Given the description of an element on the screen output the (x, y) to click on. 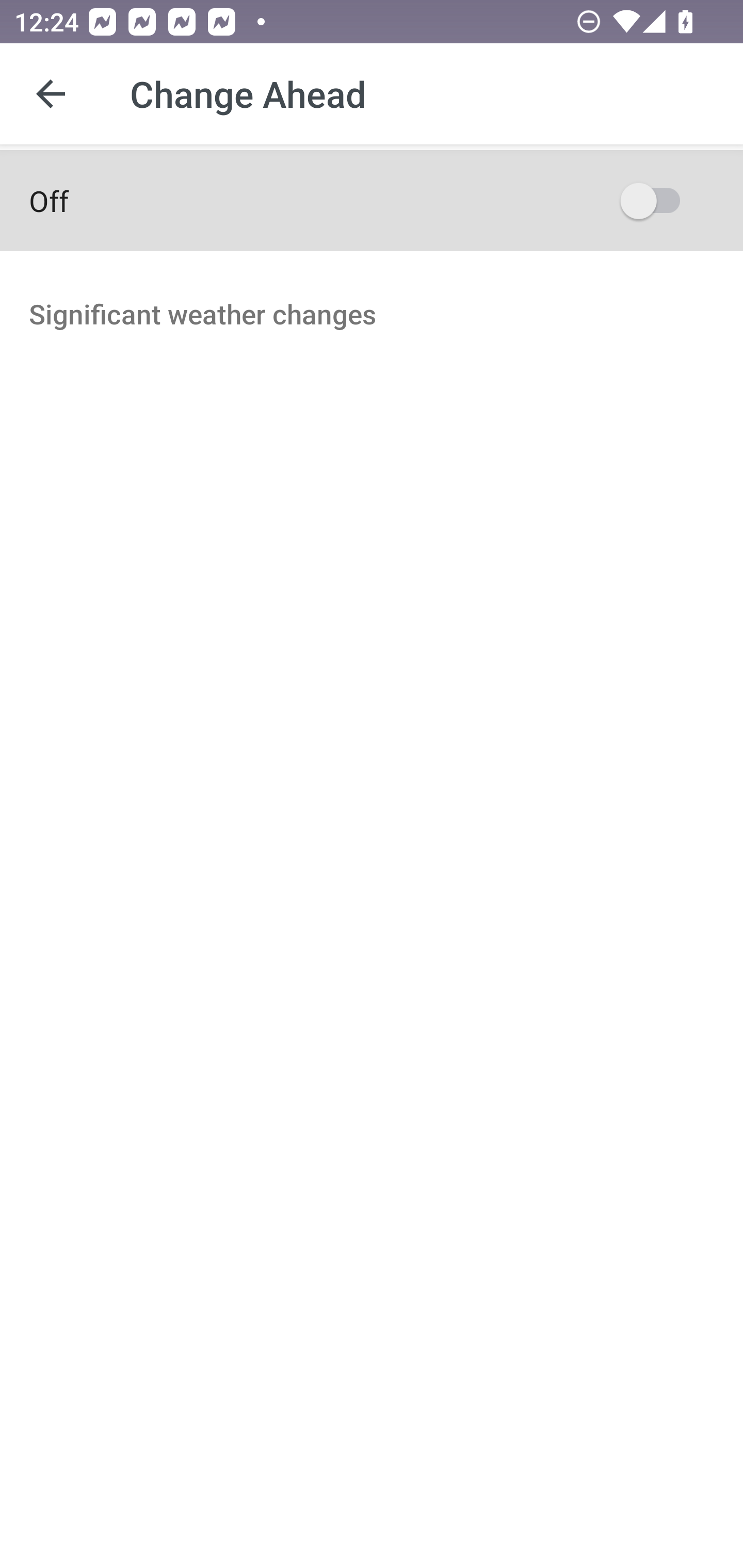
Navigate up (50, 93)
Off Significant weather changes (371, 307)
Off (371, 200)
